Given the description of an element on the screen output the (x, y) to click on. 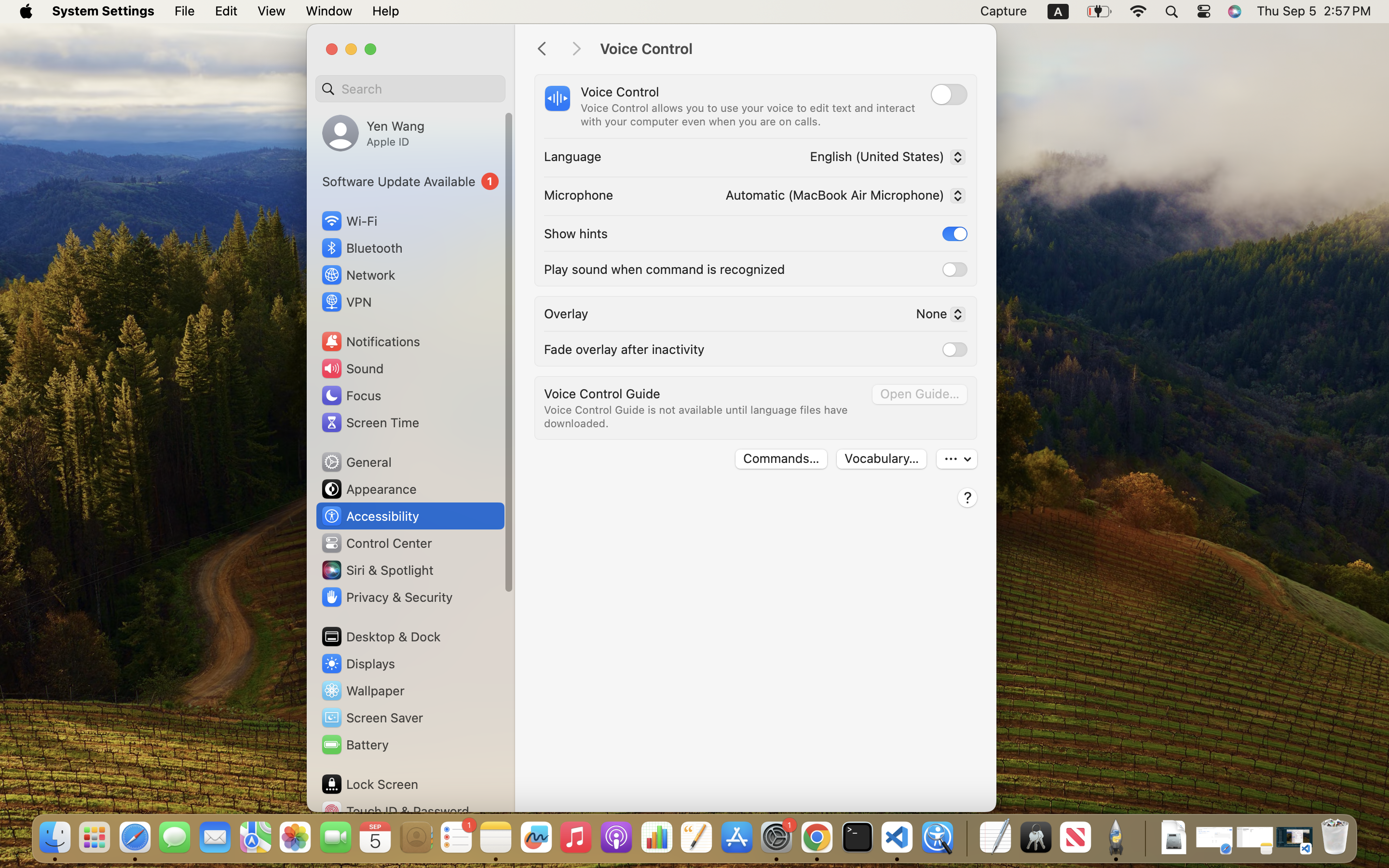
Voice Control Element type: AXStaticText (788, 49)
Control Center Element type: AXStaticText (376, 542)
Fade overlay after inactivity Element type: AXStaticText (624, 348)
Wallpaper Element type: AXStaticText (362, 690)
